Given the description of an element on the screen output the (x, y) to click on. 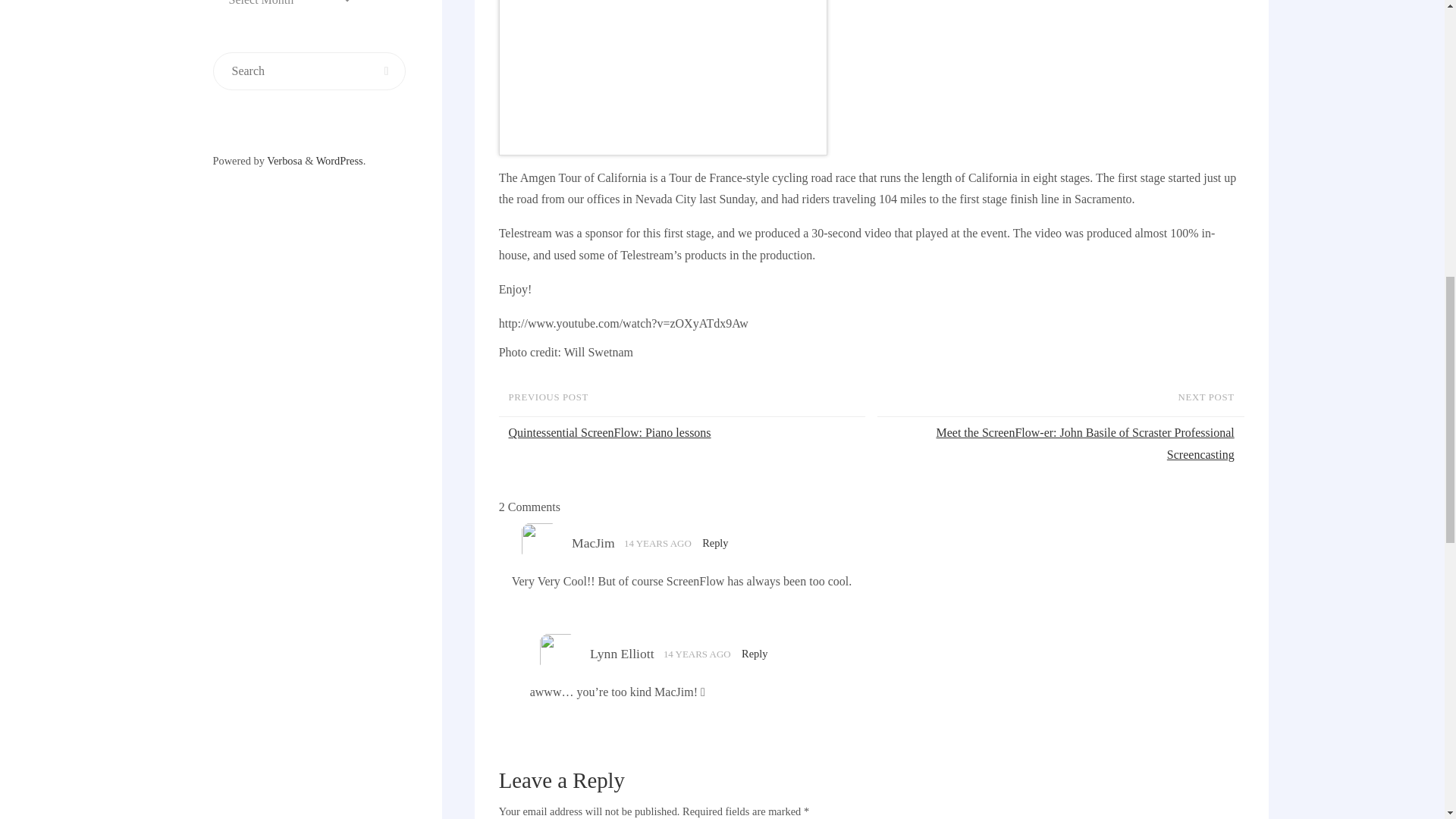
Semantic Personal Publishing Platform (338, 160)
lance2 (663, 77)
Verbosa WordPress Theme by Cryout Creations (283, 160)
